Given the description of an element on the screen output the (x, y) to click on. 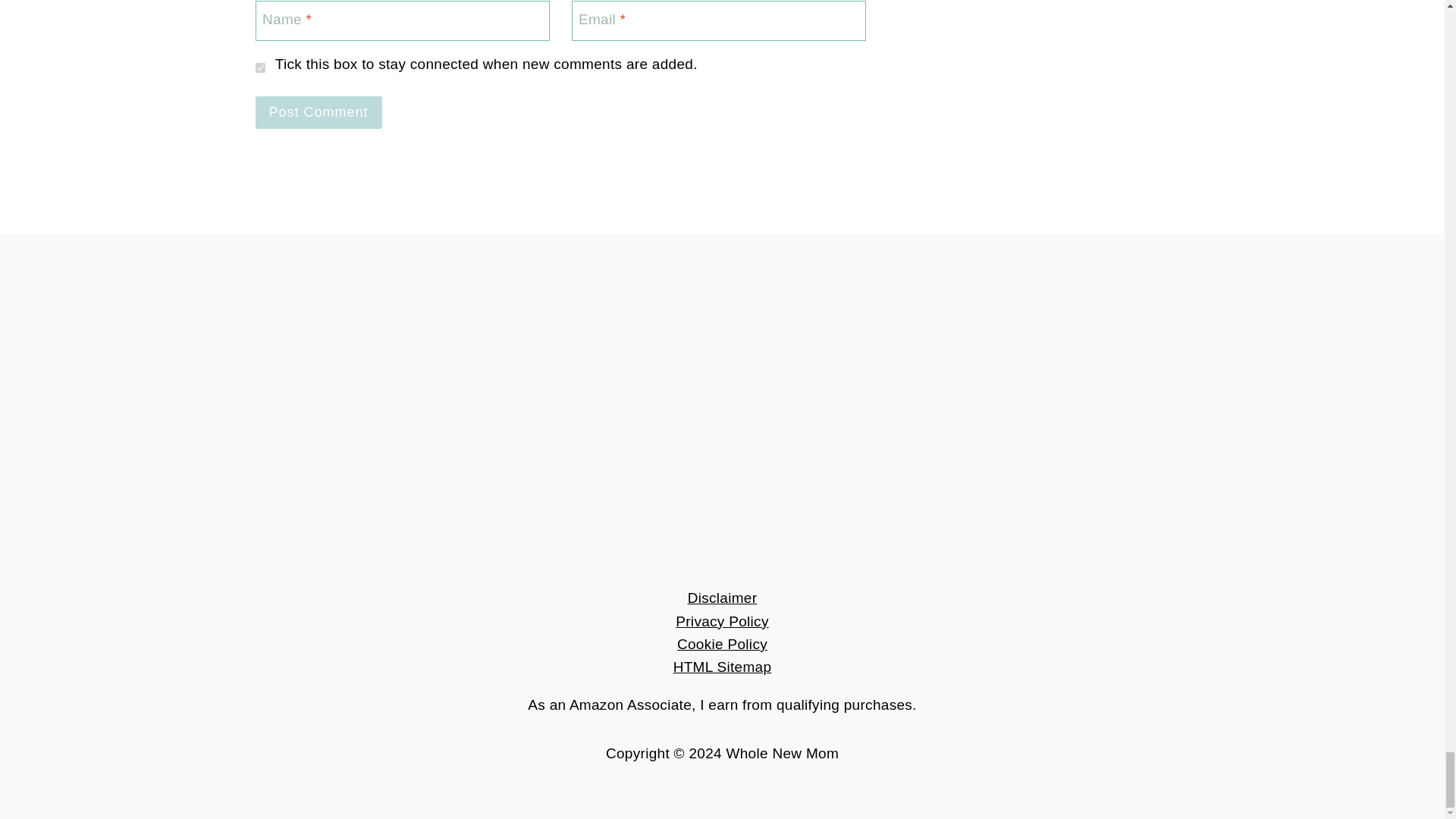
1 (259, 67)
Post Comment (317, 112)
